Given the description of an element on the screen output the (x, y) to click on. 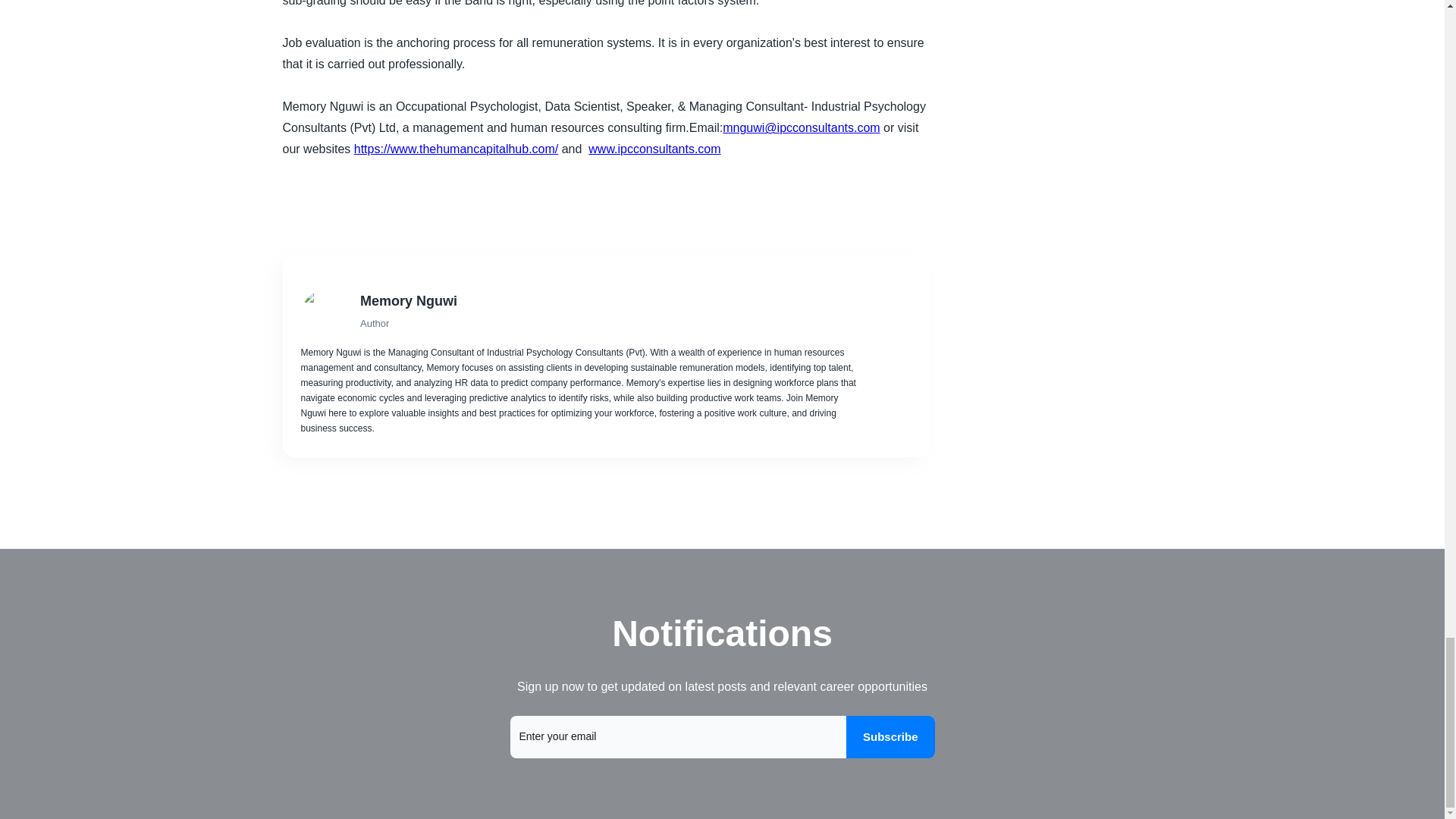
Subscribe (889, 736)
Memory Nguwi (608, 301)
www.ipcconsultants.com (654, 148)
